Given the description of an element on the screen output the (x, y) to click on. 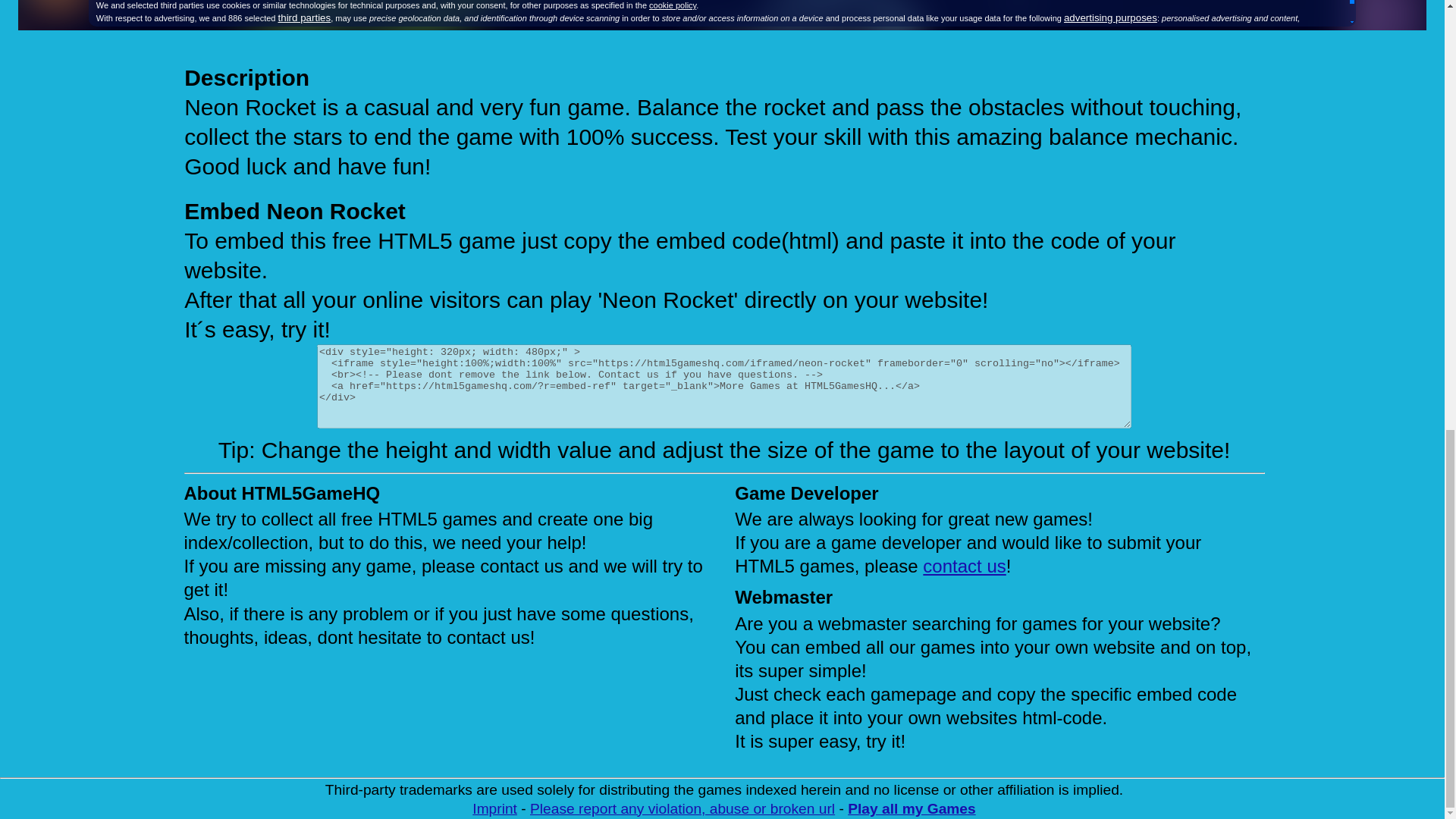
Please report any violation, abuse or broken url (681, 808)
Play all my Games (911, 808)
Imprint (493, 808)
contact us (964, 566)
